Given the description of an element on the screen output the (x, y) to click on. 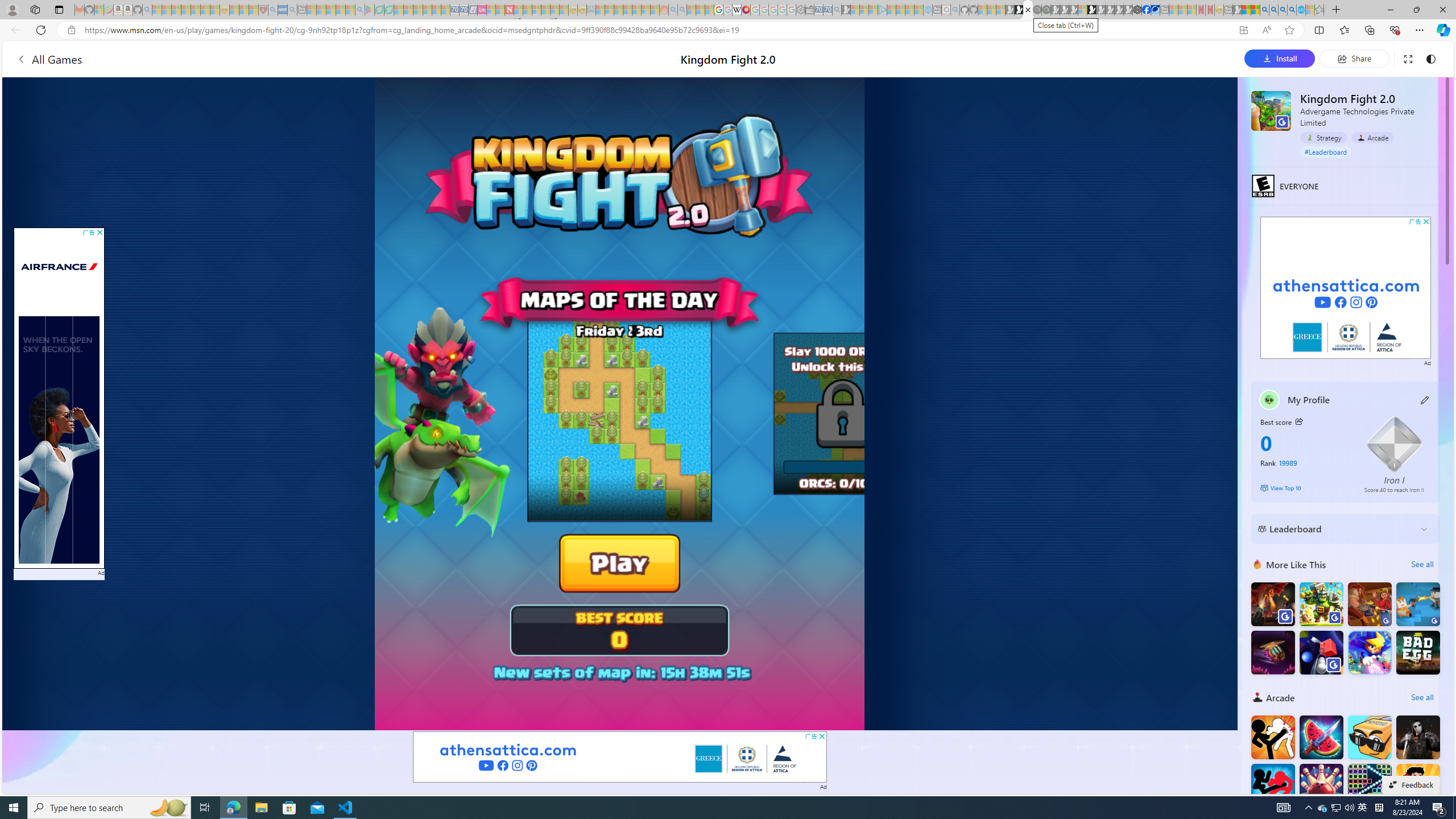
Wallet - Sleeping (809, 9)
Bricks Breaker Deluxe Crusher (1369, 785)
DITOGAMES AG Imprint - Sleeping (590, 9)
